Given the description of an element on the screen output the (x, y) to click on. 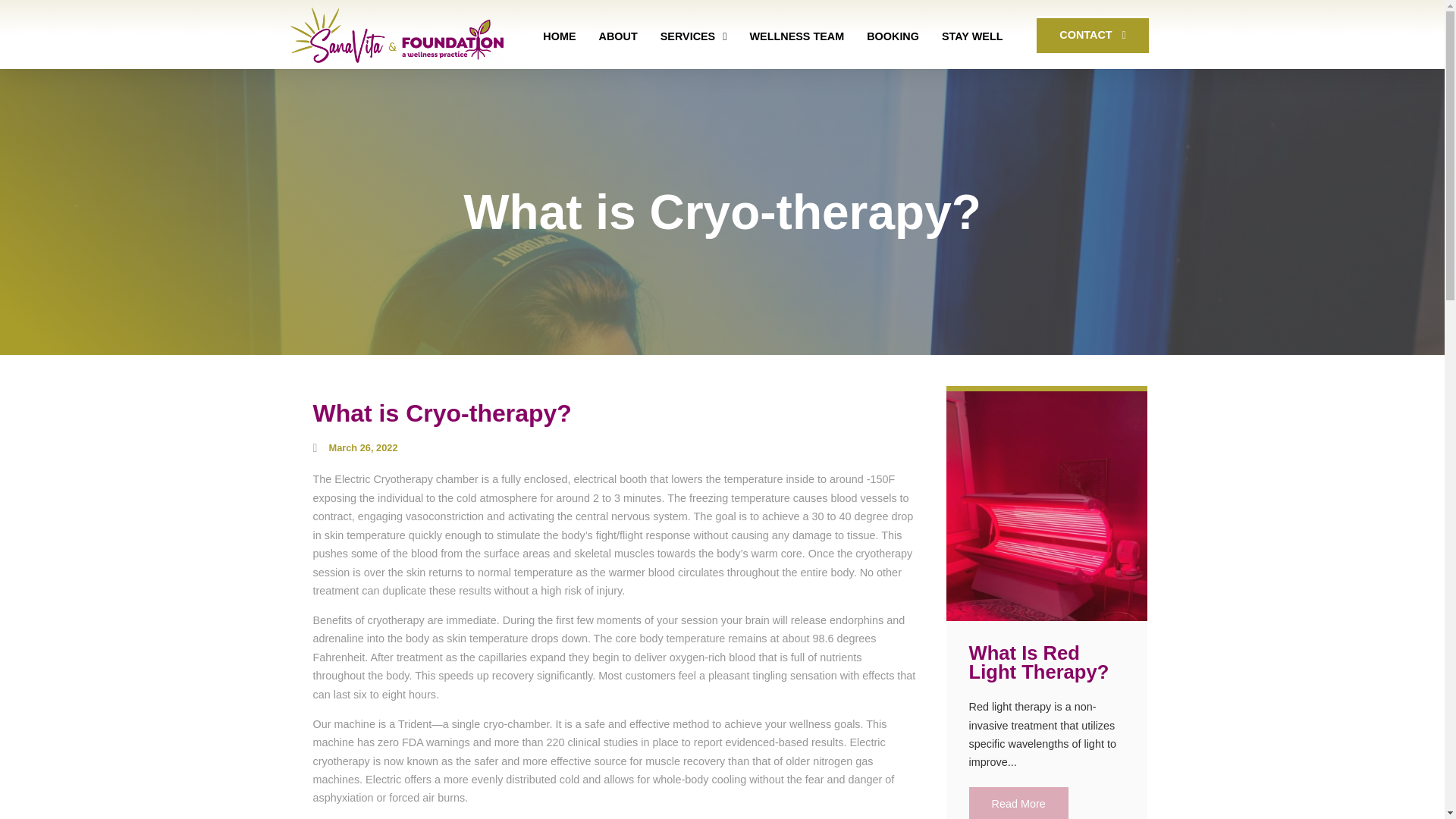
SERVICES (693, 36)
CONTACT (1092, 34)
WELLNESS TEAM (796, 36)
ABOUT (618, 36)
HOME (559, 36)
March 26, 2022 (355, 447)
BOOKING (892, 36)
STAY WELL (972, 36)
